Given the description of an element on the screen output the (x, y) to click on. 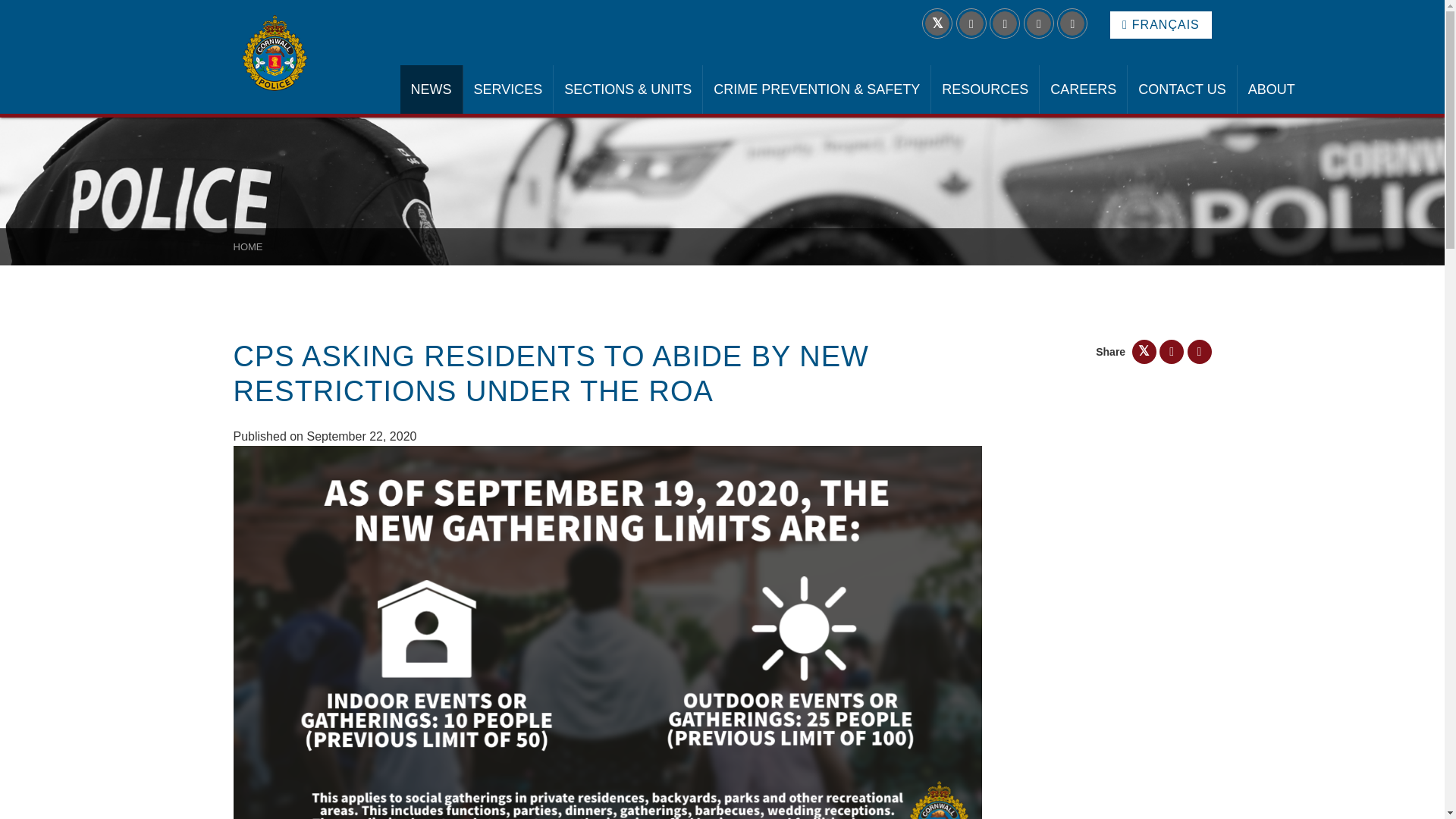
NEWS (431, 89)
Follow us on Twitter (936, 23)
Follow us on YouTube (1071, 23)
SERVICES (508, 89)
Follow us on Instagram (1038, 23)
Follow us on Facebook (1004, 23)
Follow us on LinkedIn (971, 23)
